Given the description of an element on the screen output the (x, y) to click on. 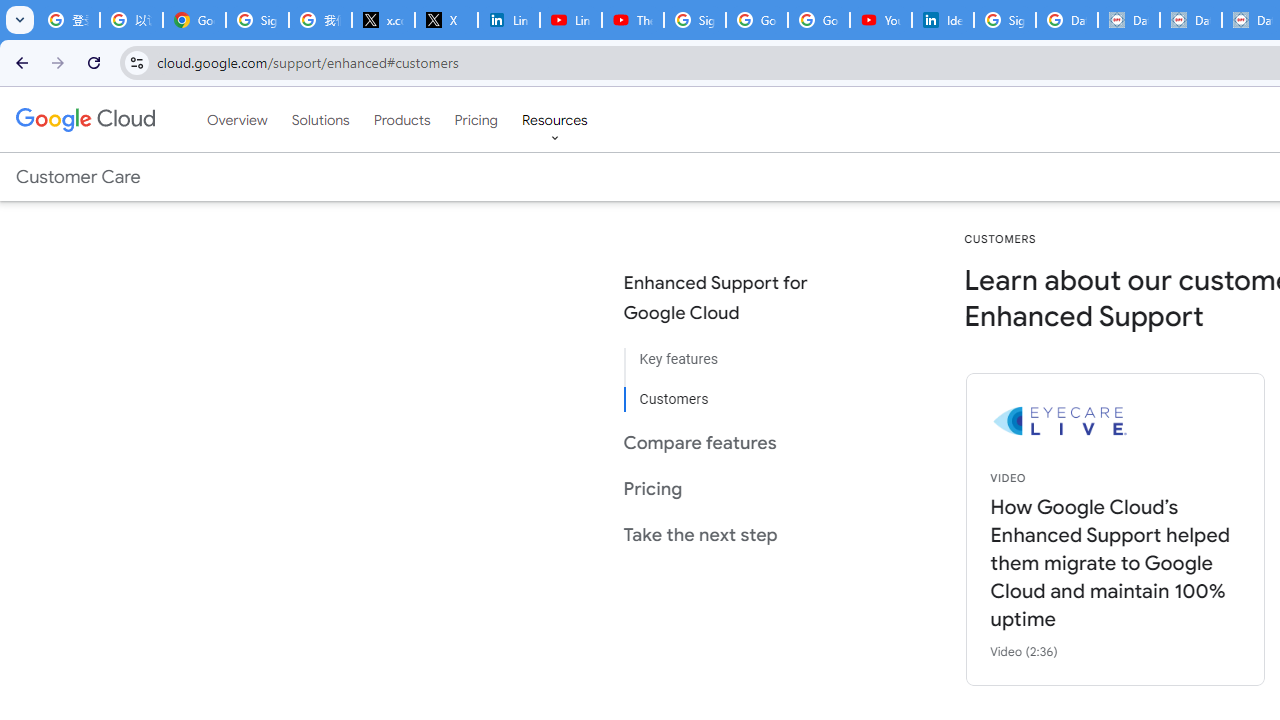
Sign in - Google Accounts (257, 20)
Key features (732, 359)
Data Privacy Framework (1128, 20)
Compare features (732, 442)
Sign in - Google Accounts (694, 20)
Pricing (476, 119)
